Given the description of an element on the screen output the (x, y) to click on. 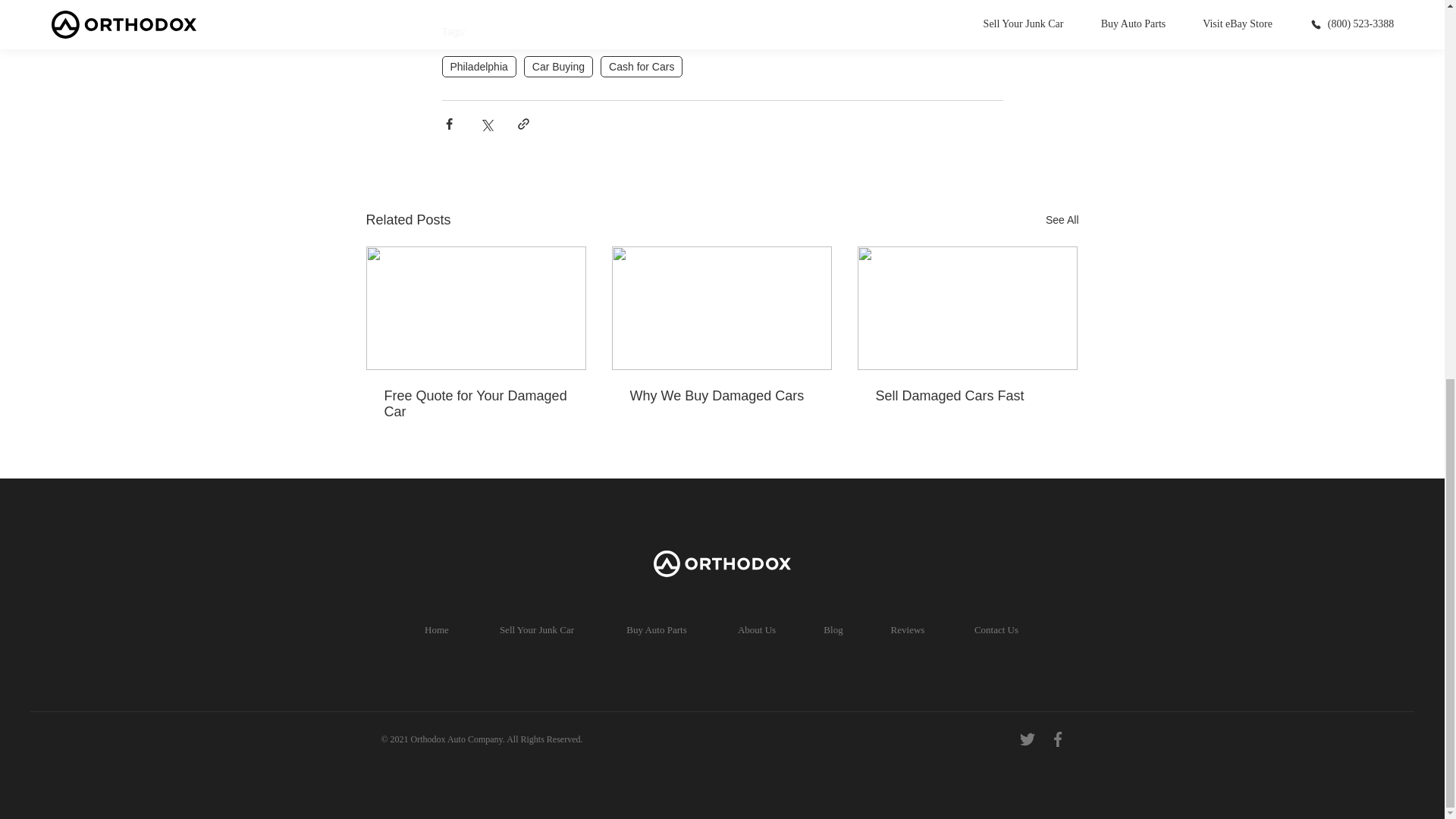
Blog (833, 630)
Home (437, 630)
Free Quote for Your Damaged Car (475, 404)
About Us (756, 630)
Buy Auto Parts (656, 630)
Philadelphia (478, 66)
Sell Your Junk Car (536, 630)
Sell Damaged Cars Fast (966, 396)
Why We Buy Damaged Cars (720, 396)
Car Buying (558, 66)
